Given the description of an element on the screen output the (x, y) to click on. 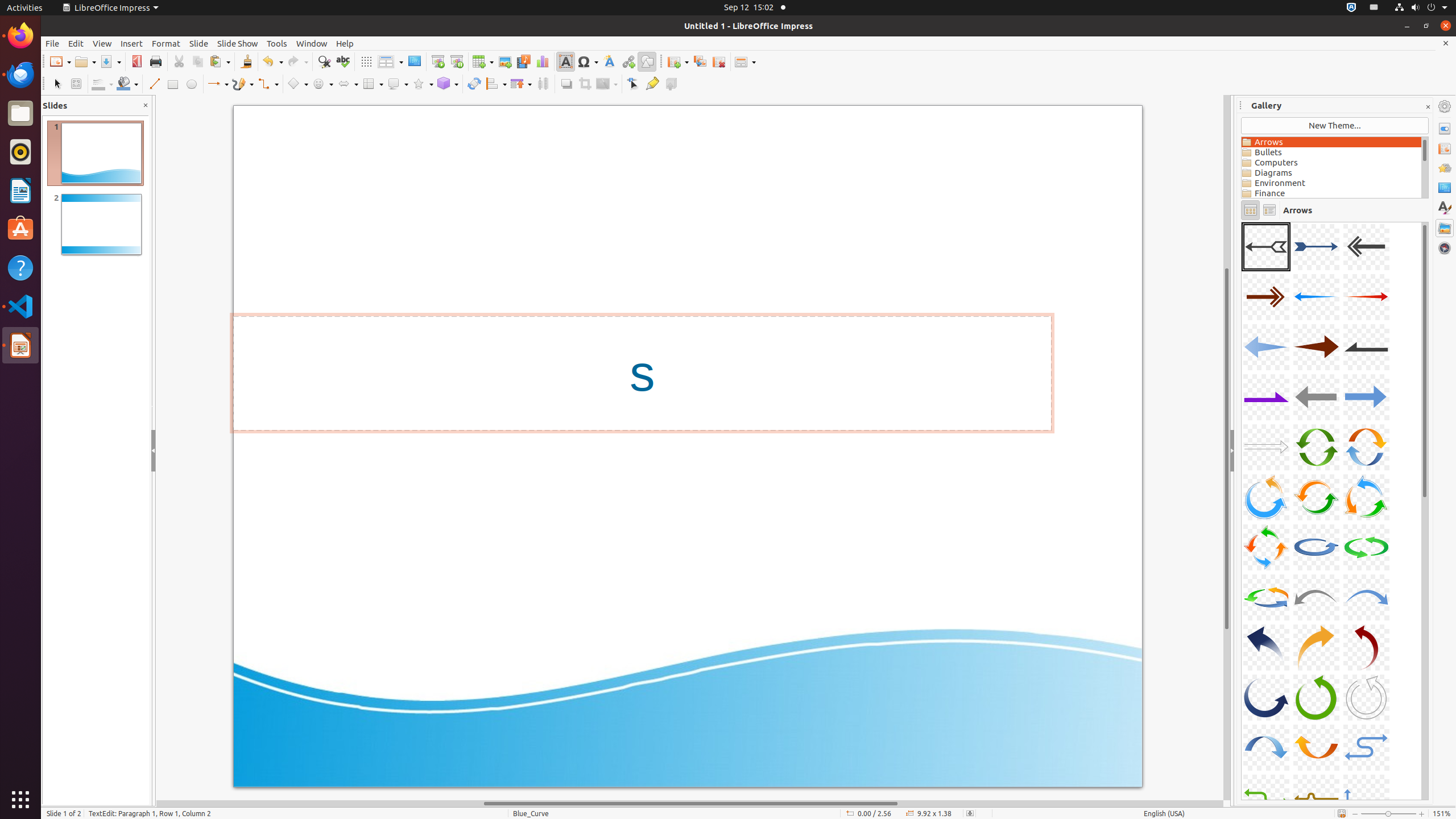
Undo Element type: push-button (271, 61)
Detailed View Element type: toggle-button (1268, 210)
A08-Arrow-DarkRed-Right Element type: list-item (1315, 346)
Save Element type: push-button (109, 61)
A27-CurvedArrow-DarkRed Element type: list-item (1365, 646)
